Given the description of an element on the screen output the (x, y) to click on. 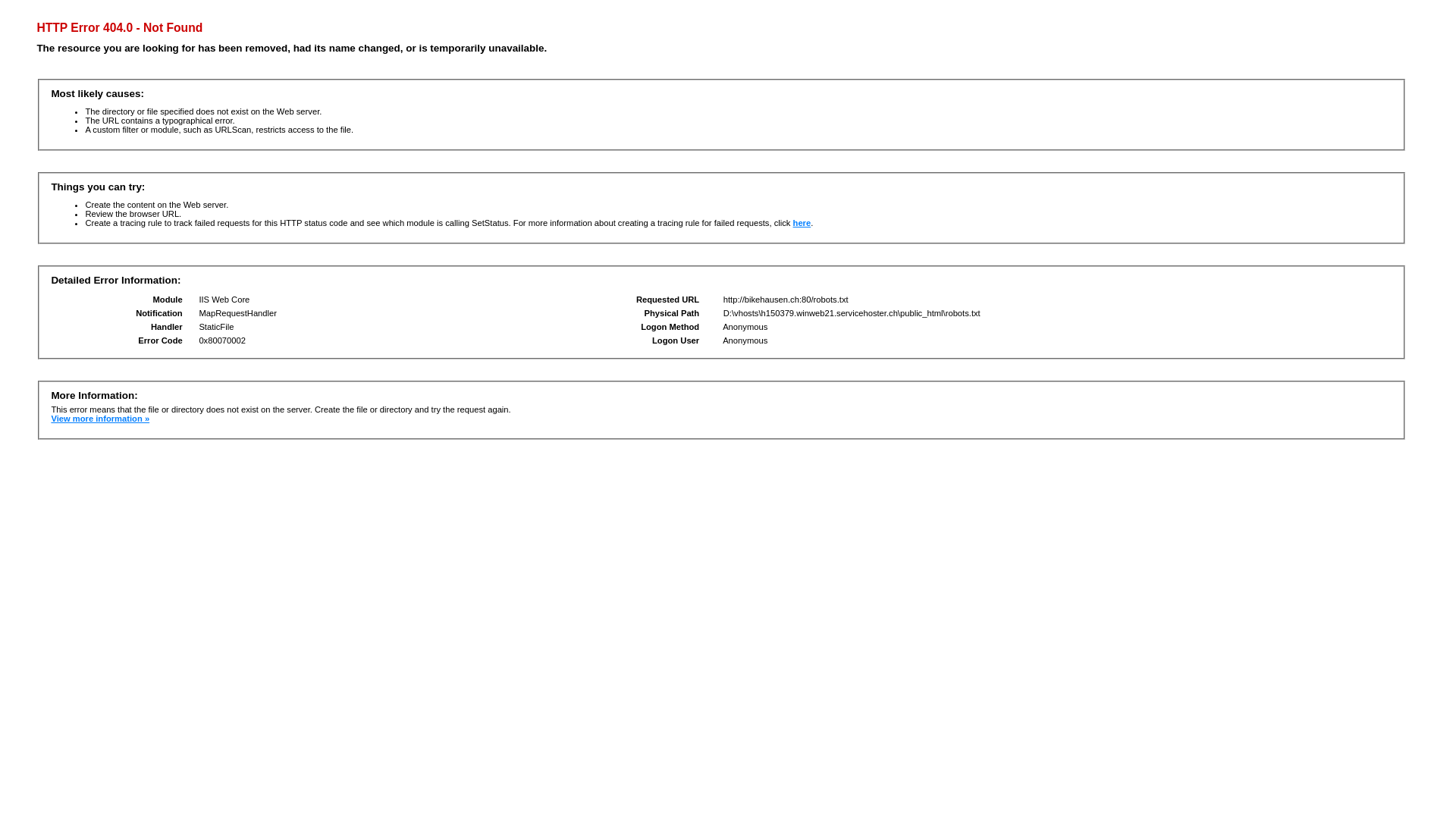
here Element type: text (802, 222)
